Given the description of an element on the screen output the (x, y) to click on. 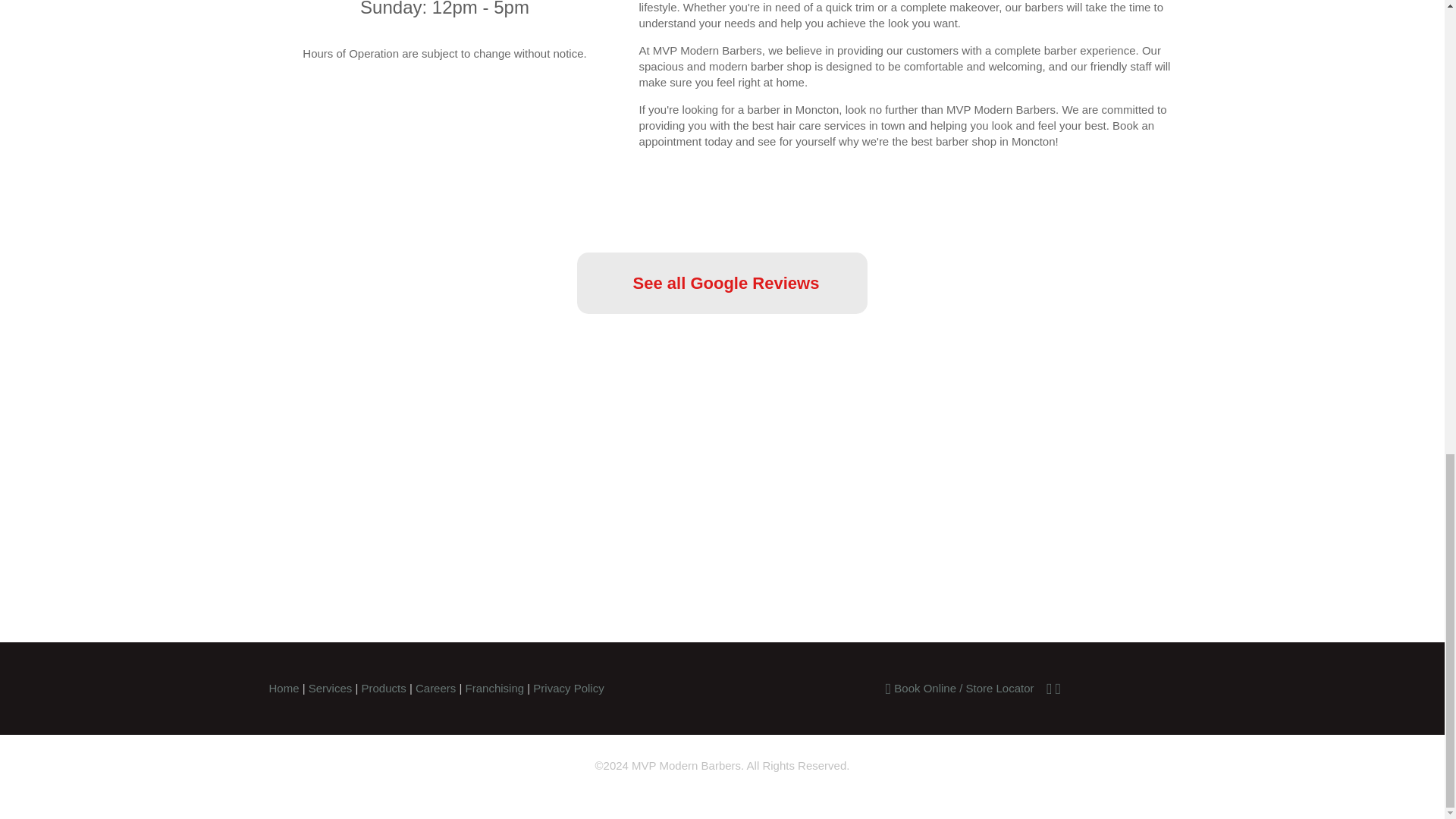
Franchising (494, 687)
Privacy Policy (568, 687)
Home (282, 687)
click here (296, 601)
Products (383, 687)
See all Google Reviews (721, 282)
Services (330, 687)
Careers (434, 687)
